Given the description of an element on the screen output the (x, y) to click on. 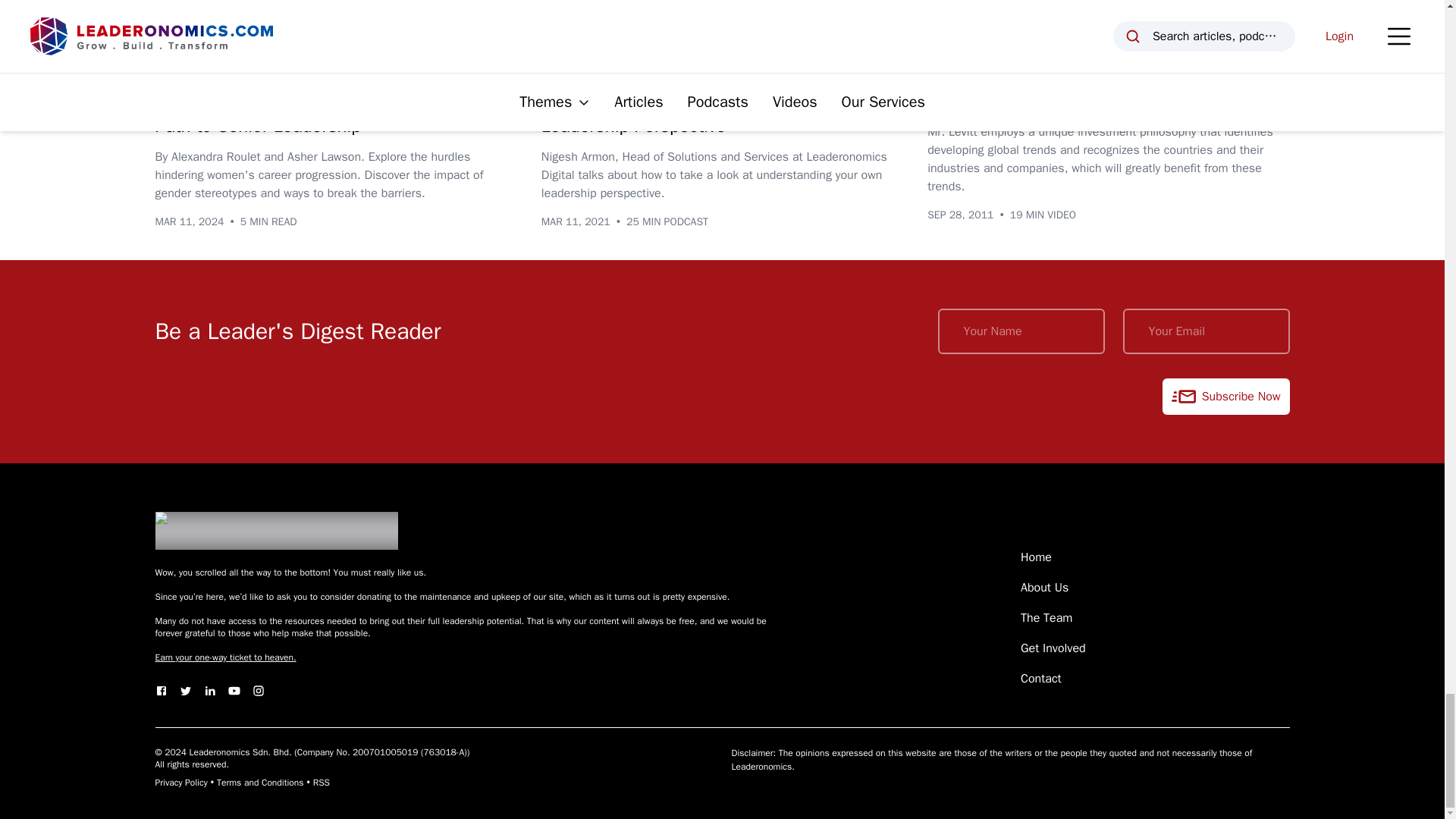
Leadership (648, 67)
6 Ways to Understanding Your Own Leadership Perspective (681, 113)
Leadership (253, 67)
Article (181, 67)
Podcast (572, 67)
Video (952, 67)
